Given the description of an element on the screen output the (x, y) to click on. 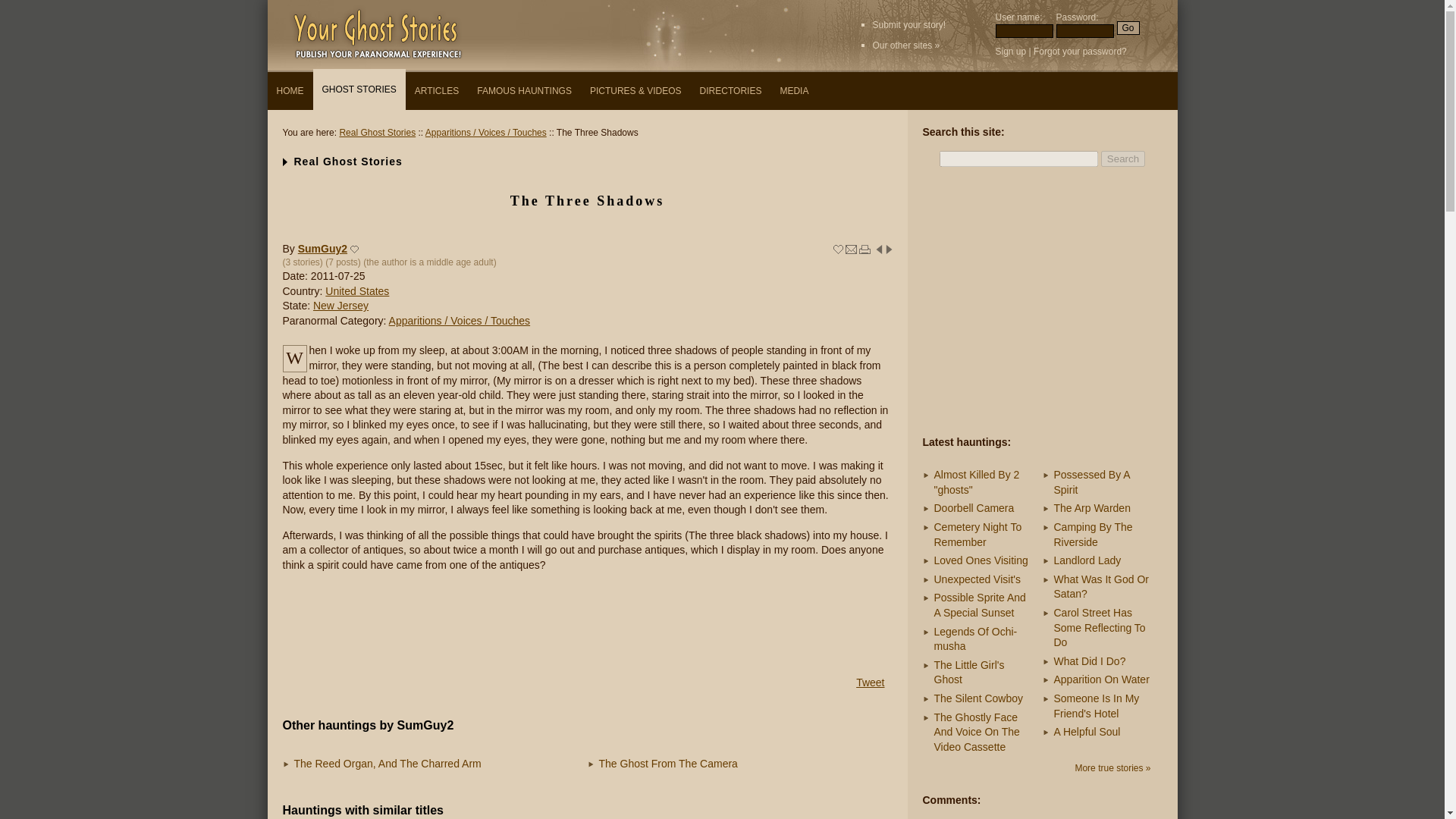
Add to your favorite stories (837, 248)
Go (1127, 28)
Add SumGuy2 to your favorite people (354, 248)
HOME (289, 90)
Go (1127, 28)
Send this story to a friend (851, 248)
The Reed Organ, And The Charred Arm (387, 763)
Advertisement (587, 622)
Real Ghost Stories (376, 132)
Print this story (864, 248)
